Given the description of an element on the screen output the (x, y) to click on. 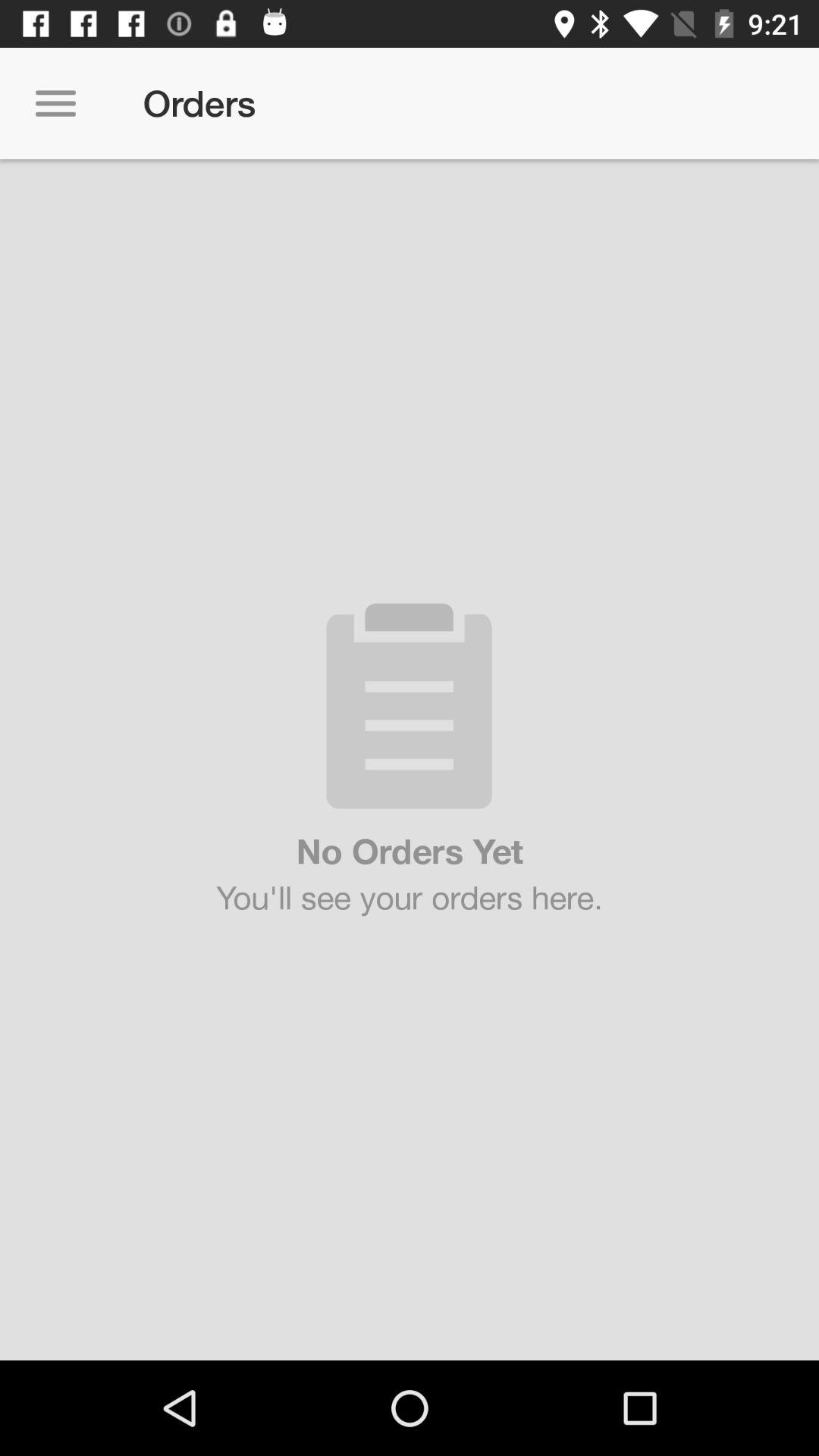
open item to the left of orders (55, 103)
